Given the description of an element on the screen output the (x, y) to click on. 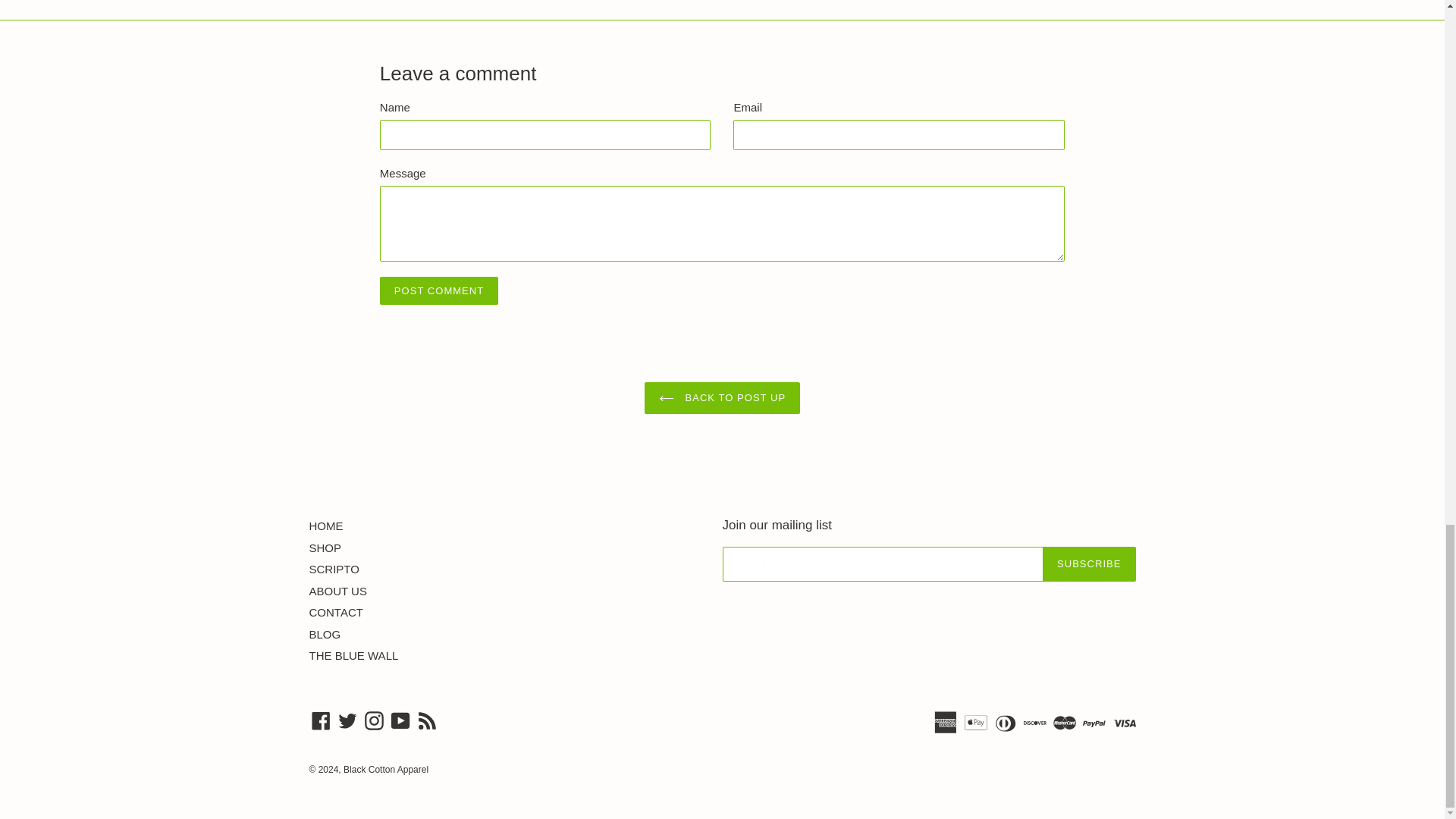
Black Cotton Apparel on Twitter (347, 720)
Black Cotton Apparel on Instagram (373, 720)
Post comment (438, 290)
Black Cotton Apparel on Facebook (320, 720)
Black Cotton Apparel on YouTube (400, 720)
